Given the description of an element on the screen output the (x, y) to click on. 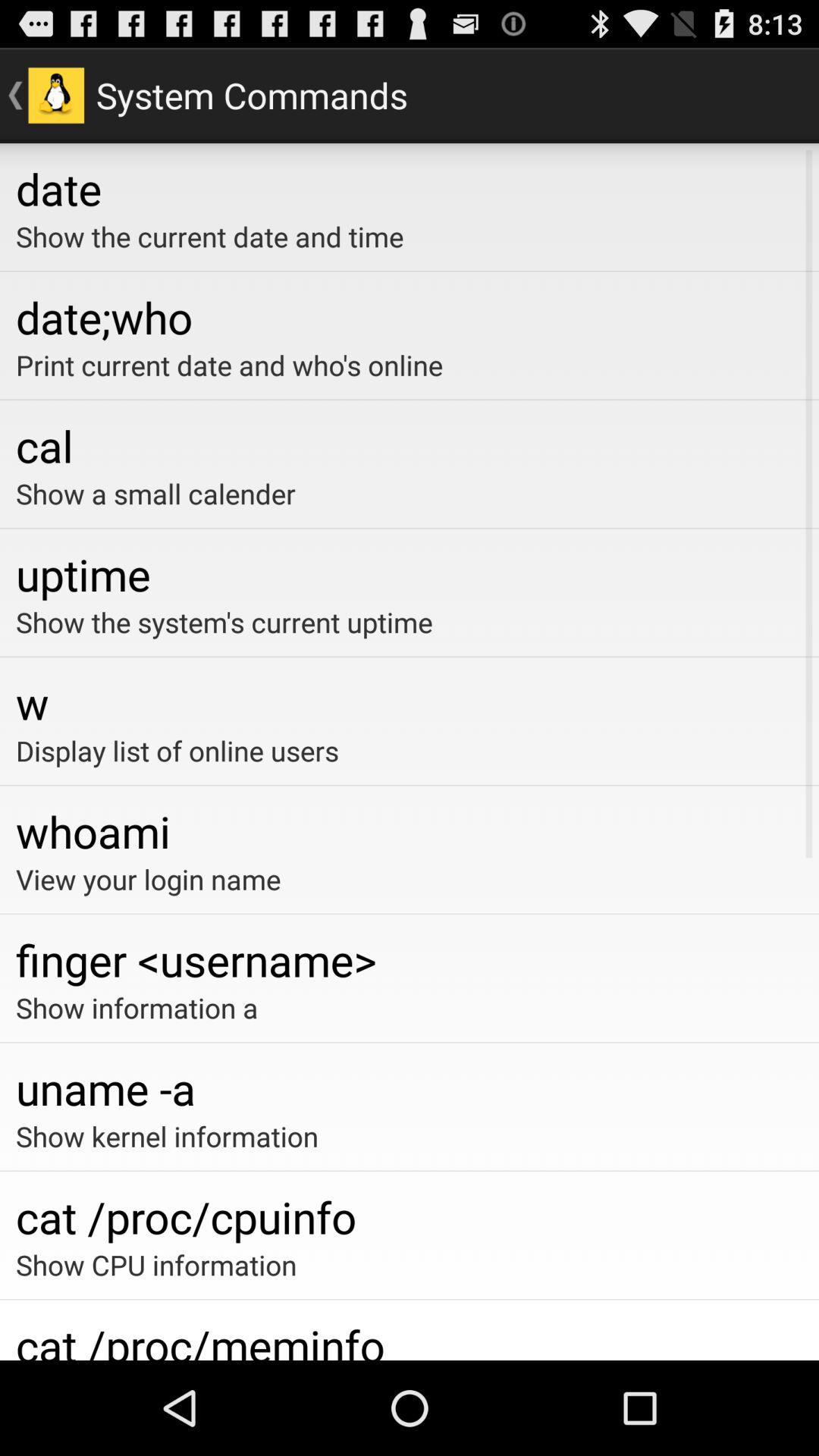
tap the icon below the display list of icon (409, 830)
